Given the description of an element on the screen output the (x, y) to click on. 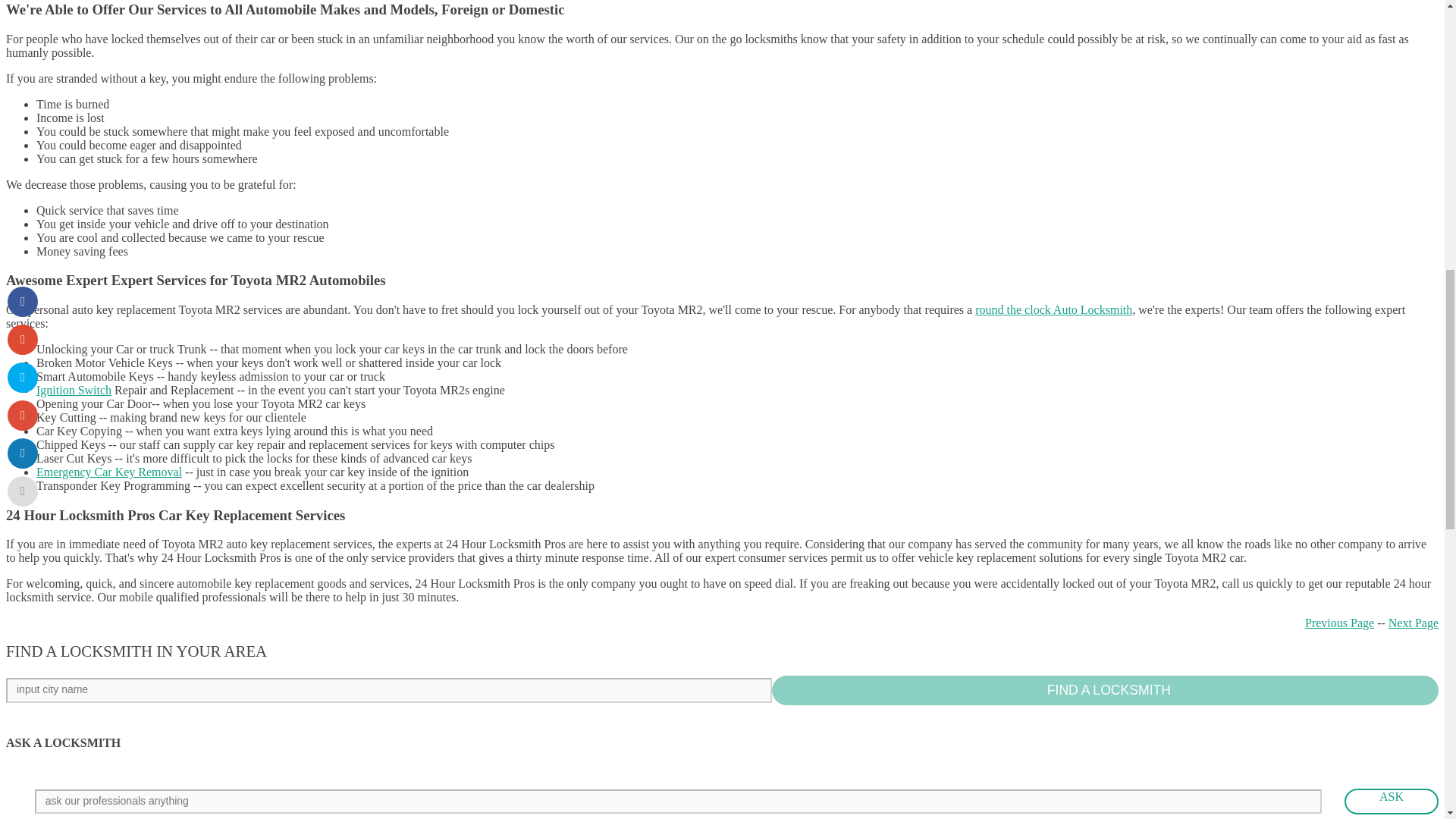
Emergency Car Key Removal (109, 472)
round the clock Auto Locksmith (1053, 309)
Previous Page (1339, 622)
Ignition Switch (74, 390)
